Given the description of an element on the screen output the (x, y) to click on. 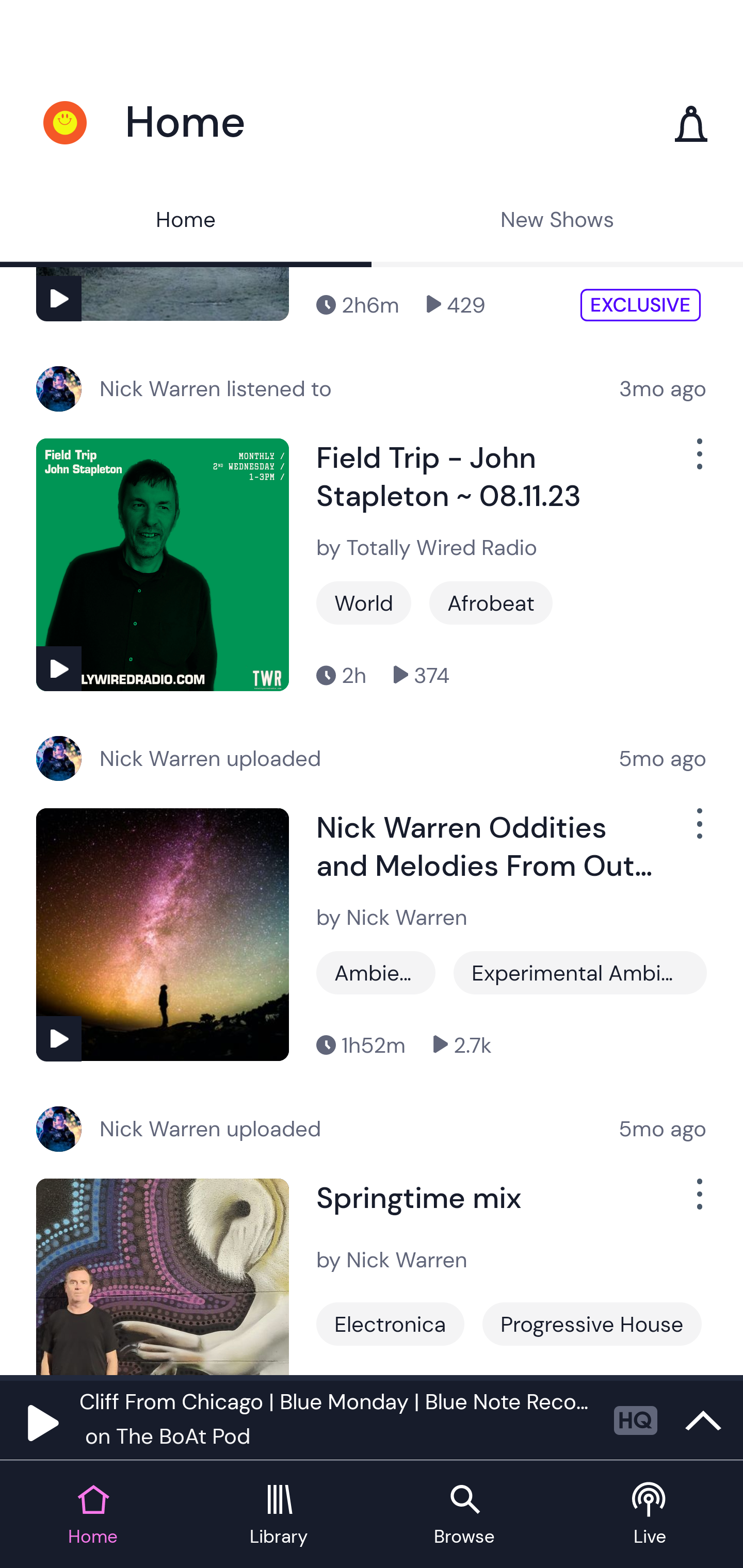
Home (185, 221)
New Shows (557, 221)
Show Options Menu Button (697, 462)
World (363, 602)
Afrobeat (490, 602)
Show Options Menu Button (697, 830)
Ambient (375, 972)
Experimental Ambient (579, 972)
Show Options Menu Button (697, 1202)
Electronica (390, 1324)
Progressive House (591, 1324)
Home tab Home (92, 1515)
Library tab Library (278, 1515)
Browse tab Browse (464, 1515)
Live tab Live (650, 1515)
